Given the description of an element on the screen output the (x, y) to click on. 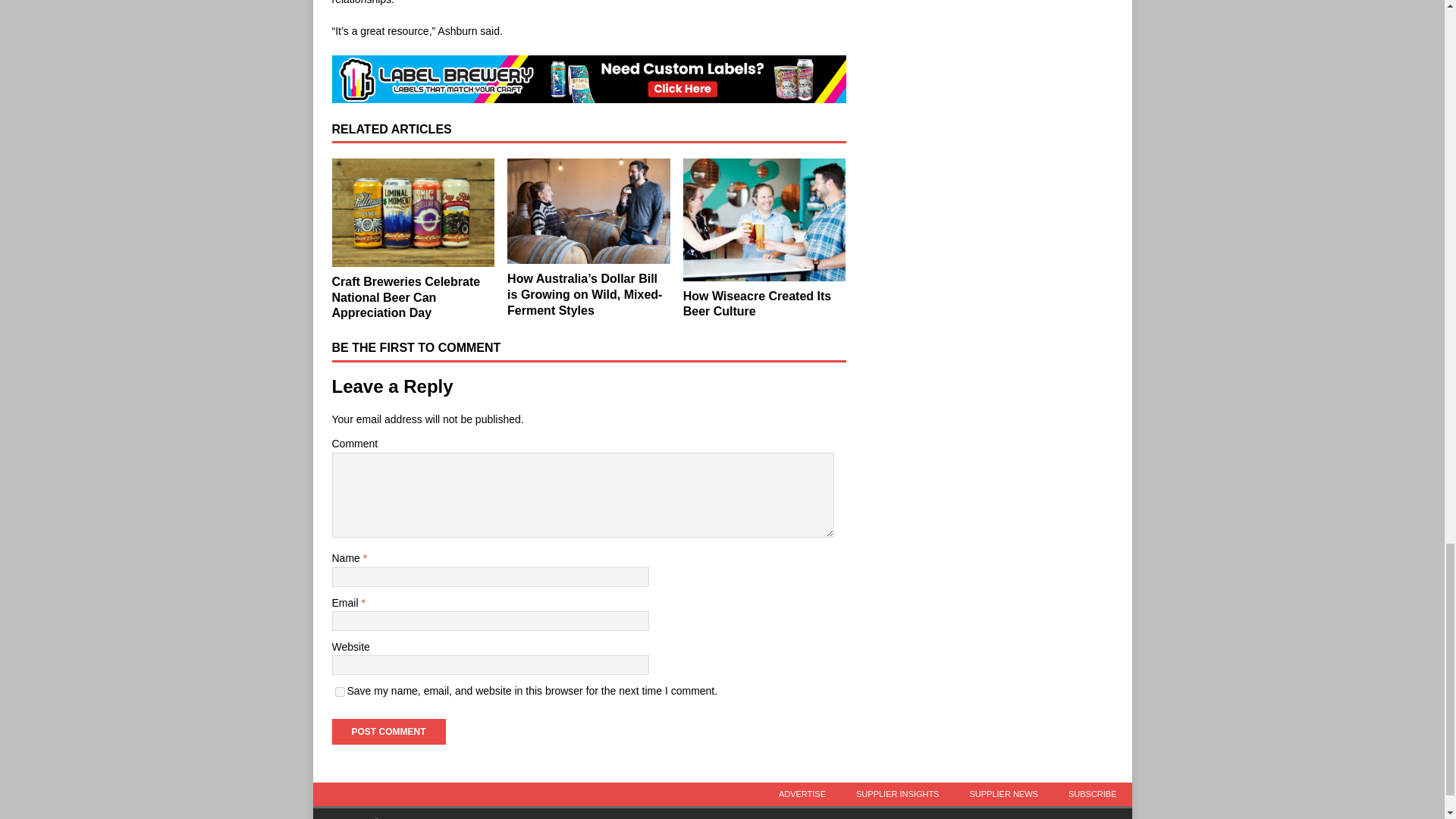
How Wiseacre Created Its Beer Culture (756, 303)
How Wiseacre Created Its Beer Culture (763, 219)
How Wiseacre Created Its Beer Culture (756, 303)
Craft Breweries Celebrate National Beer Can Appreciation Day (405, 297)
Craft Breweries Celebrate National Beer Can Appreciation Day (413, 212)
Craft Breweries Celebrate National Beer Can Appreciation Day (405, 297)
Post Comment (388, 731)
yes (339, 691)
